Given the description of an element on the screen output the (x, y) to click on. 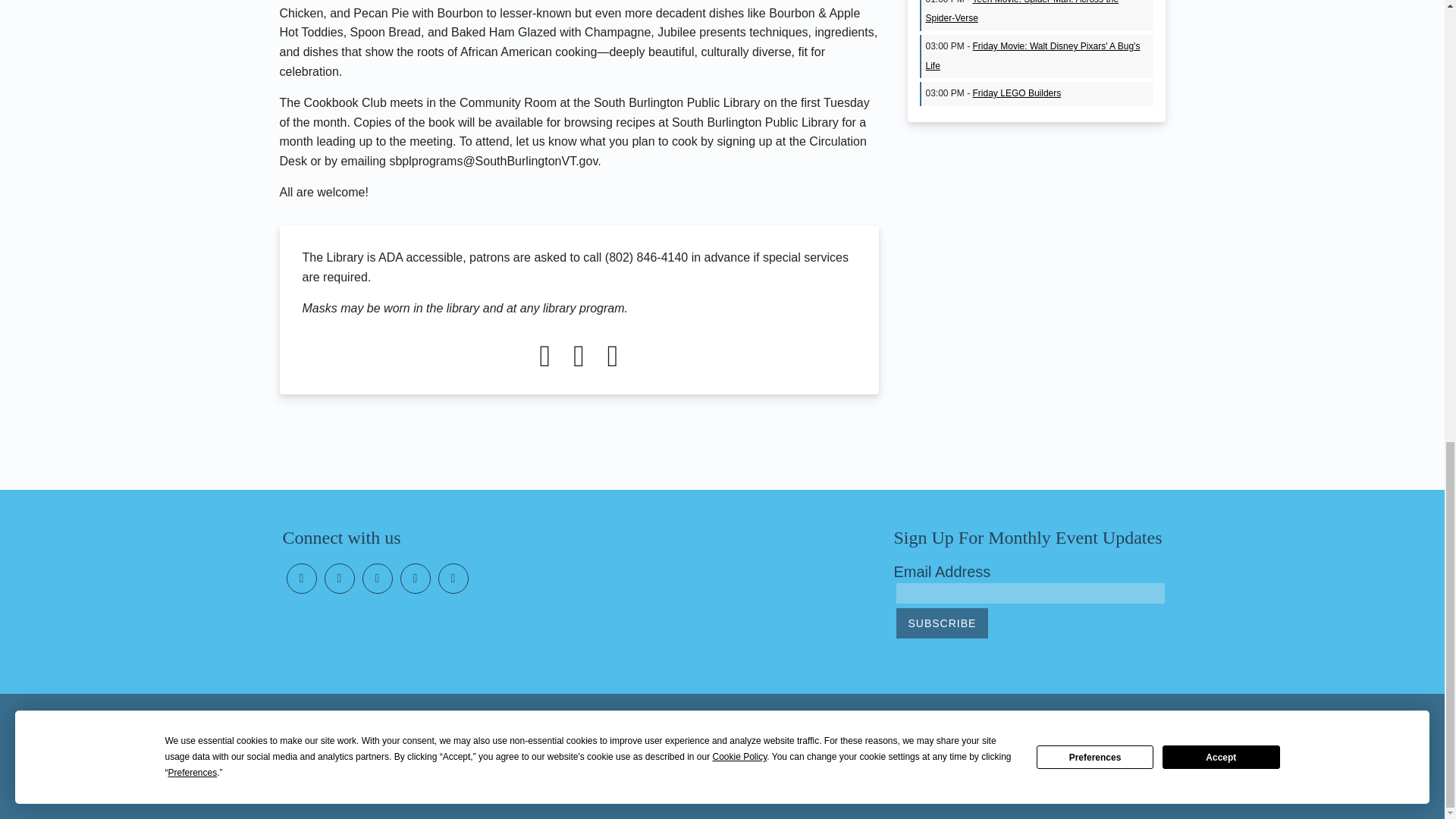
Subscribe (942, 623)
Follow us on YouTube (377, 578)
View our E-Calendar (415, 578)
Read our Blog (453, 578)
Follow us on Instagram (339, 578)
Follow us on Facebook (301, 578)
